Given the description of an element on the screen output the (x, y) to click on. 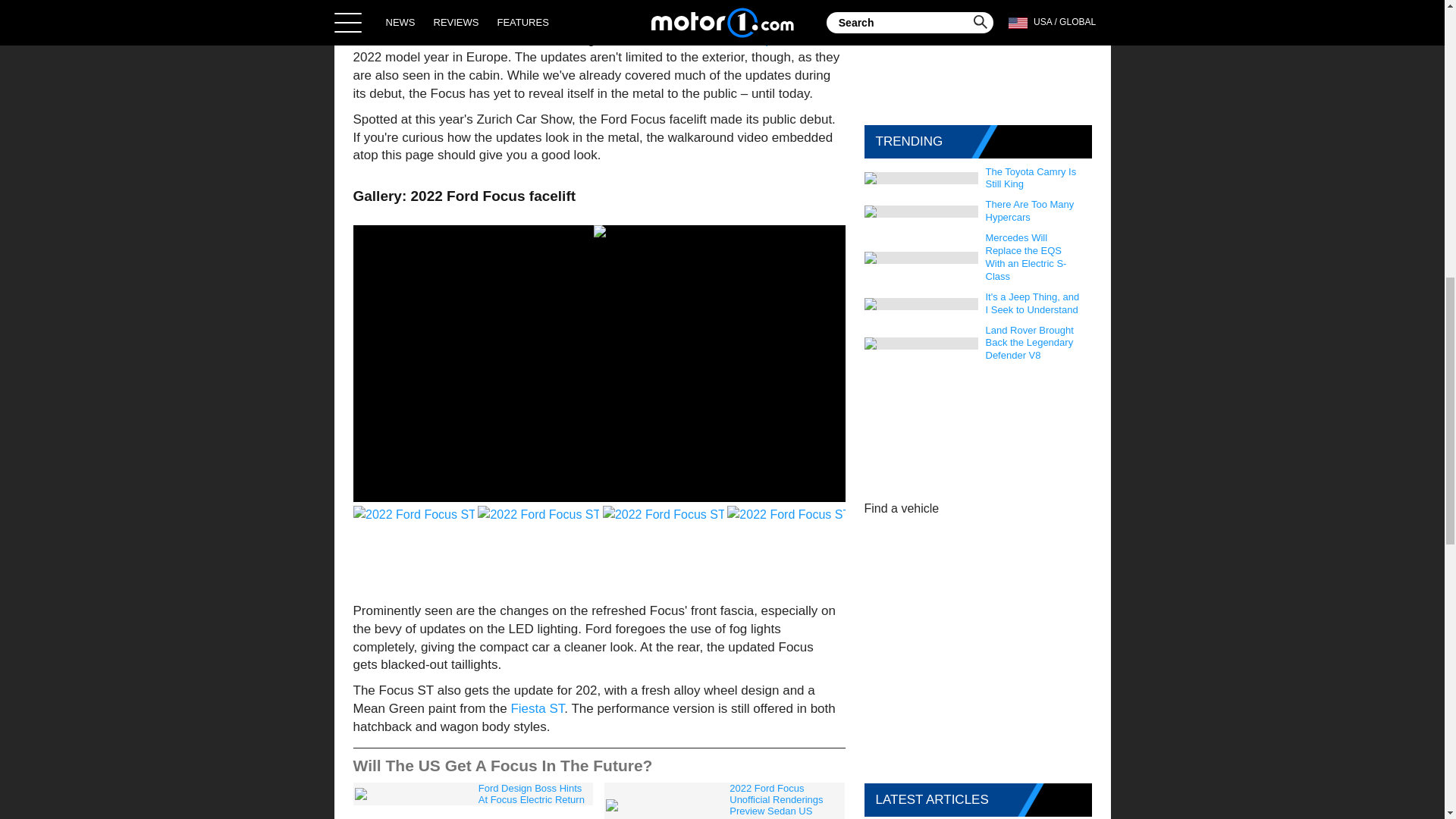
Fiesta ST (537, 708)
Fiesta facelift's debut (464, 39)
Ford Design Boss Hints At Focus Electric Return (473, 793)
Focus a substantial update (720, 39)
